Given the description of an element on the screen output the (x, y) to click on. 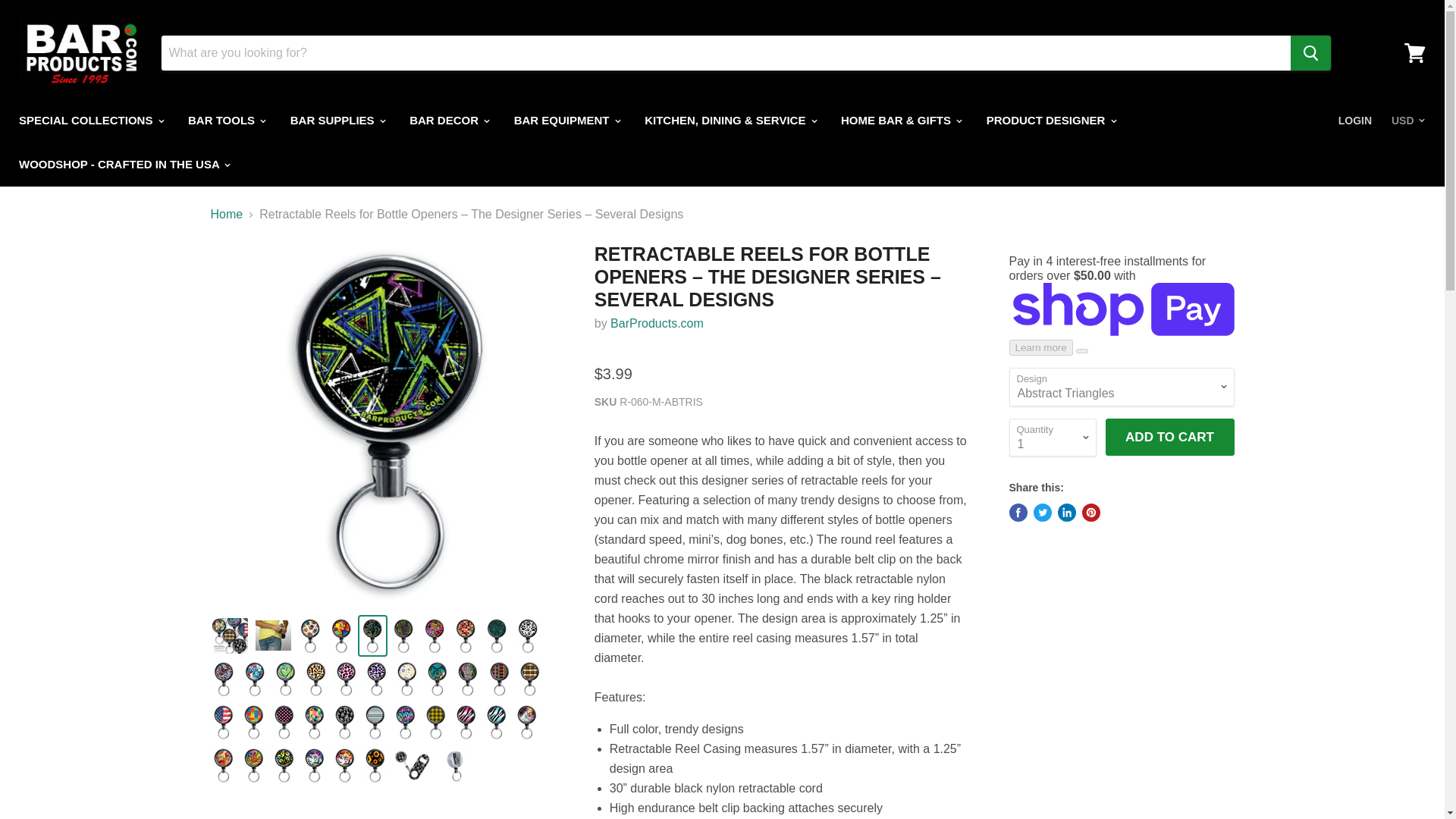
BarProducts.com (656, 323)
BAR TOOLS (225, 120)
SPECIAL COLLECTIONS (90, 120)
View cart (1414, 53)
